Given the description of an element on the screen output the (x, y) to click on. 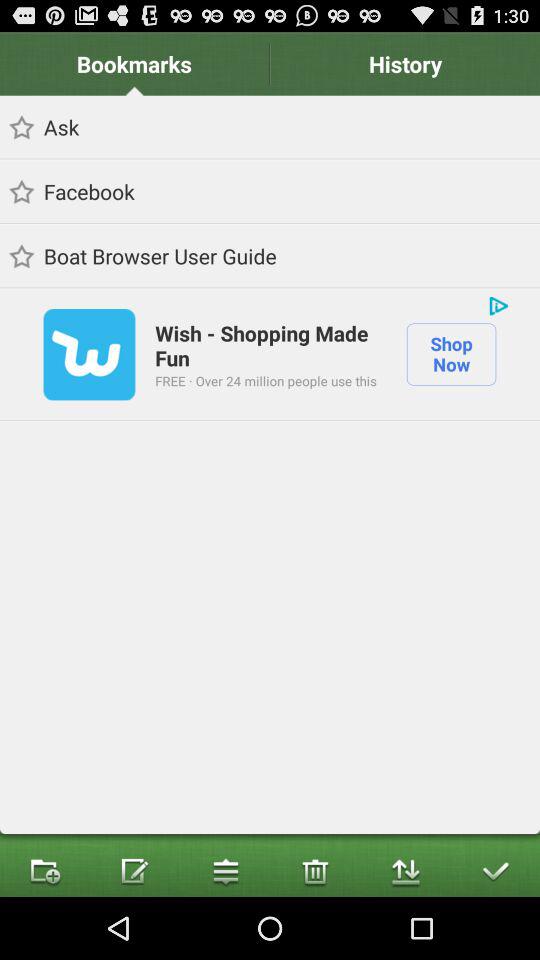
turn on the icon to the right of wish shopping made item (498, 305)
